Given the description of an element on the screen output the (x, y) to click on. 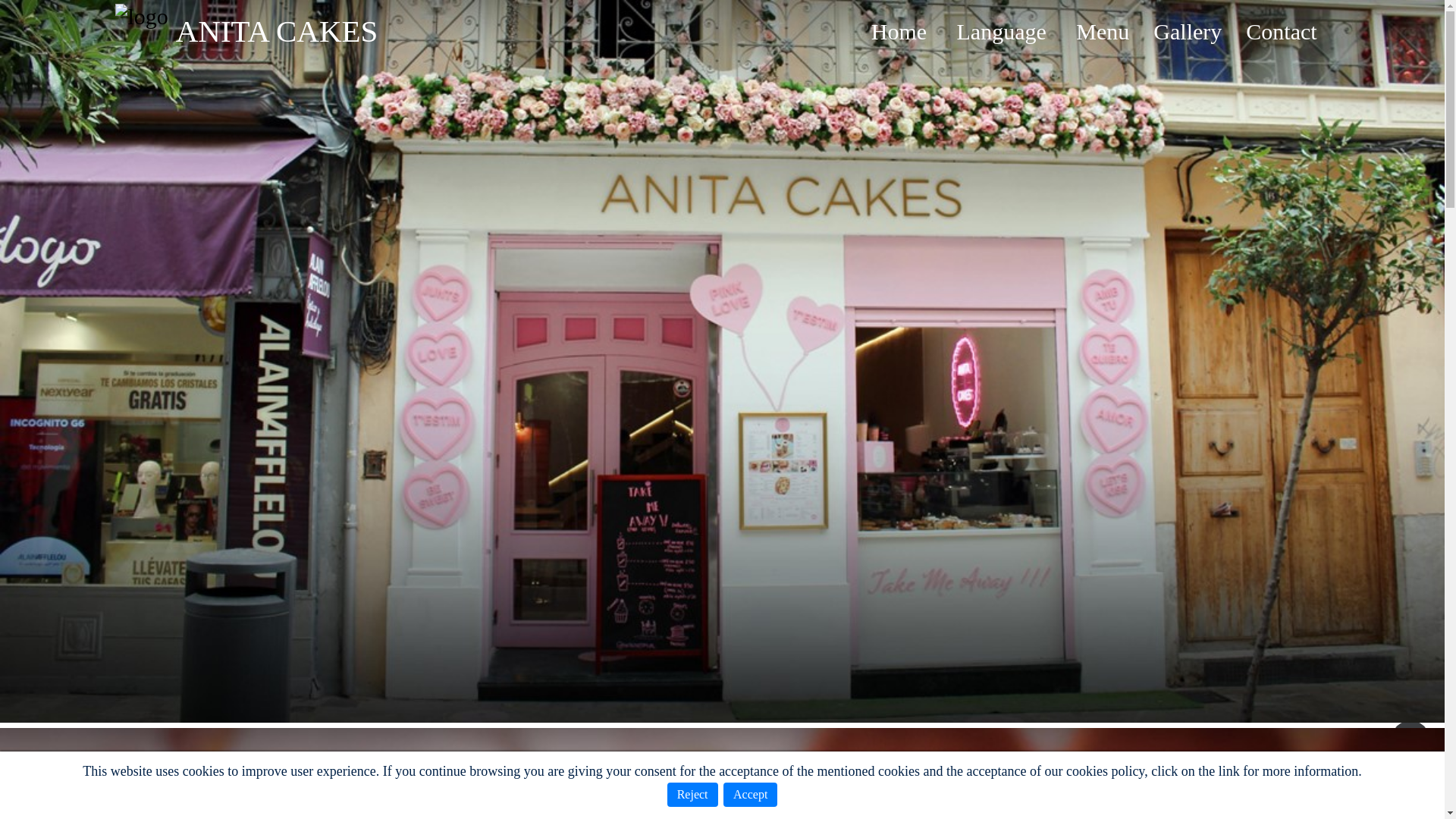
Menu (1102, 31)
Gallery (1187, 31)
Accept (750, 794)
ANITA CAKES (277, 31)
Reject (691, 794)
phone (1410, 739)
Language (1001, 31)
Contact (1281, 31)
Home (898, 31)
